Given the description of an element on the screen output the (x, y) to click on. 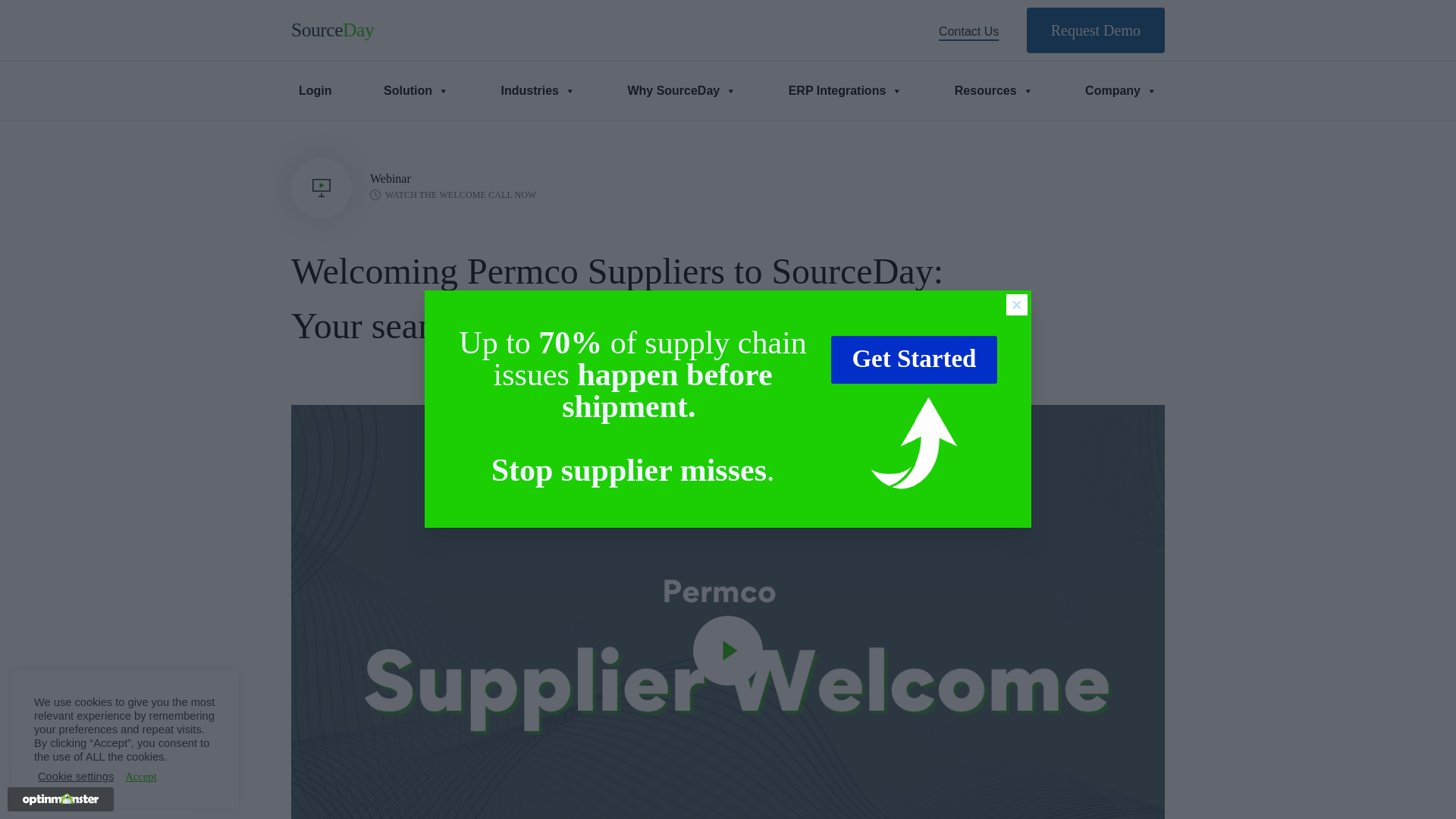
Powered by OptinMonster (61, 799)
Resources (994, 90)
Close (1016, 304)
Why SourceDay (682, 90)
Solution (416, 90)
SourceDay (332, 29)
Industries (537, 90)
Request Demo (1095, 30)
Contact Us (981, 31)
Company (1120, 90)
Get Started (914, 359)
ERP Integrations (845, 90)
